Given the description of an element on the screen output the (x, y) to click on. 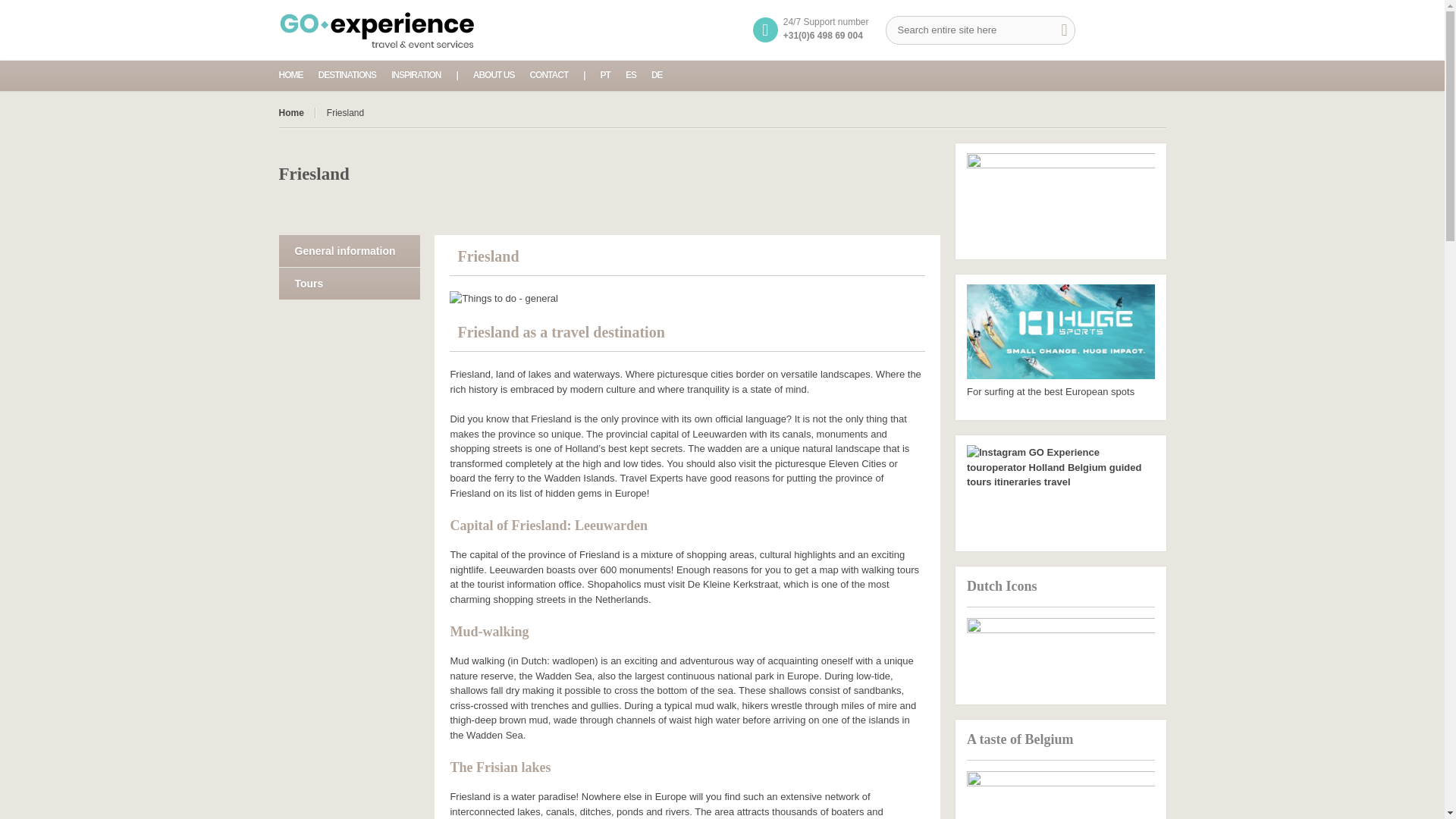
Home (297, 112)
Tours (349, 282)
DESTINATIONS (346, 75)
Tours (349, 282)
CONTACT (548, 75)
General information (349, 250)
ABOUT US (494, 75)
Home (297, 112)
General information (349, 250)
INSPIRATION (416, 75)
